Given the description of an element on the screen output the (x, y) to click on. 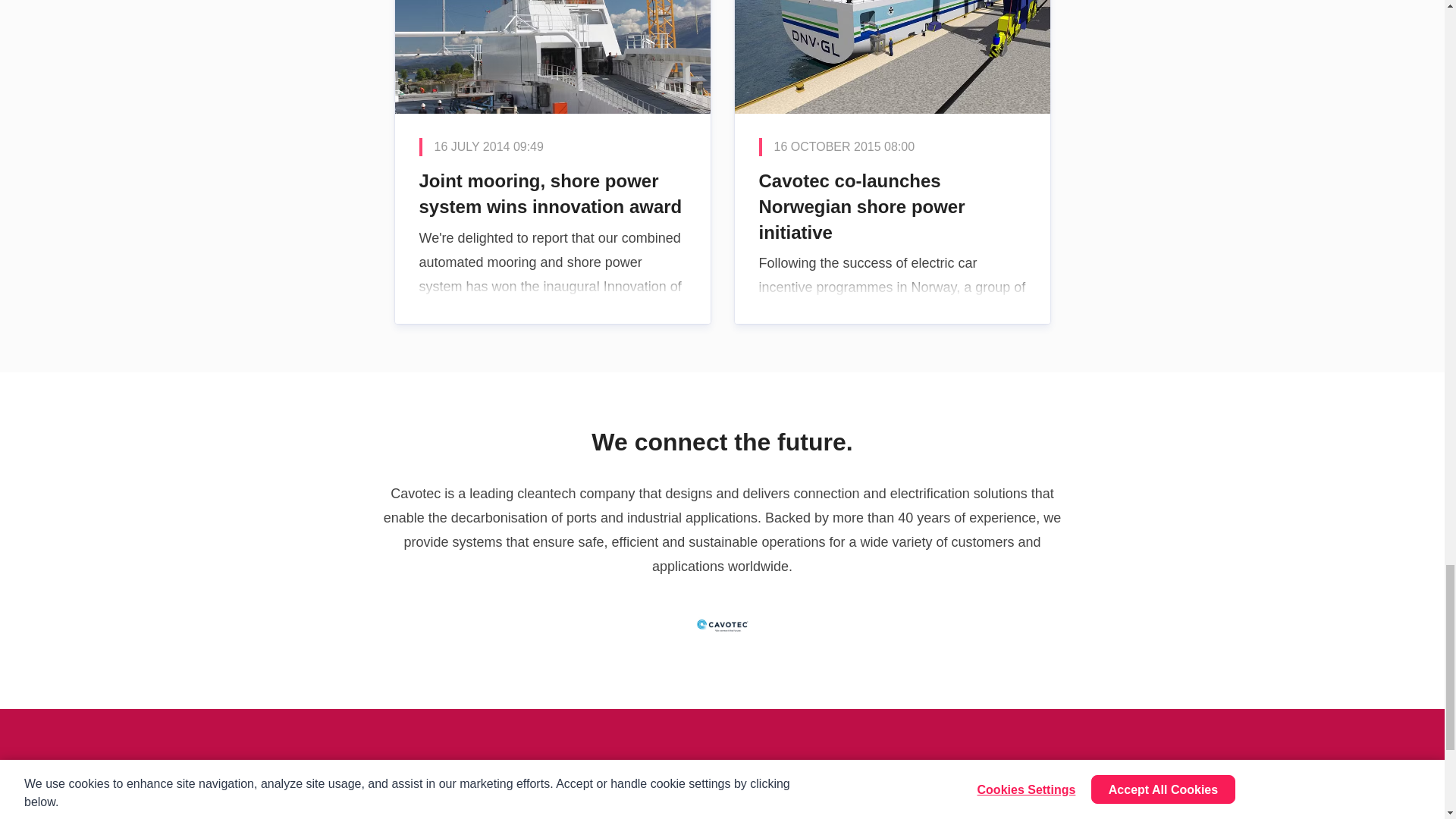
Joint mooring, shore power system wins innovation award (552, 161)
Cavotec co-launches Norwegian shore power initiative (891, 161)
